Given the description of an element on the screen output the (x, y) to click on. 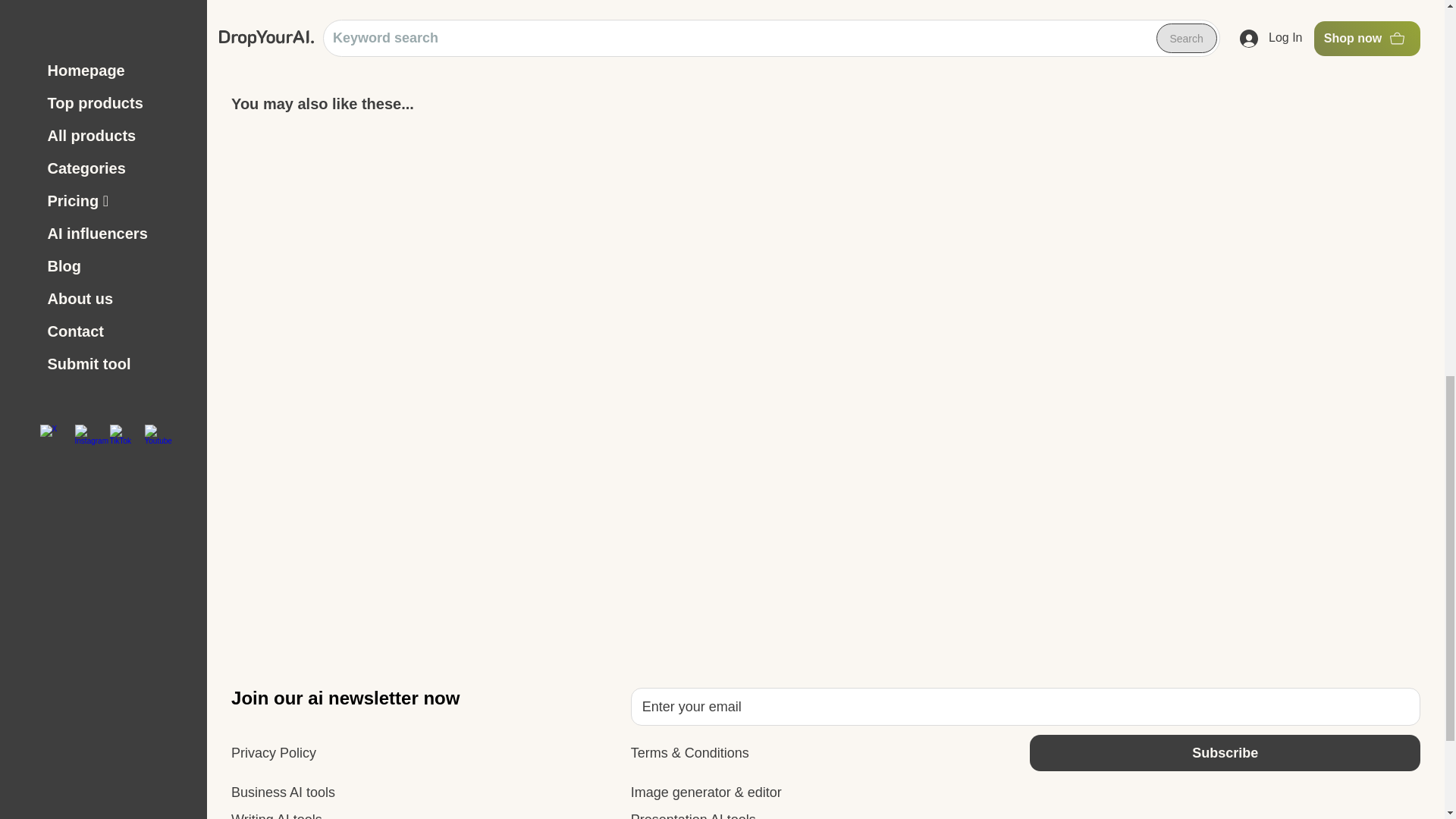
Business AI tools (282, 792)
Privacy Policy (273, 752)
Presentation AI tools (692, 813)
Writing AI tools (276, 813)
